Given the description of an element on the screen output the (x, y) to click on. 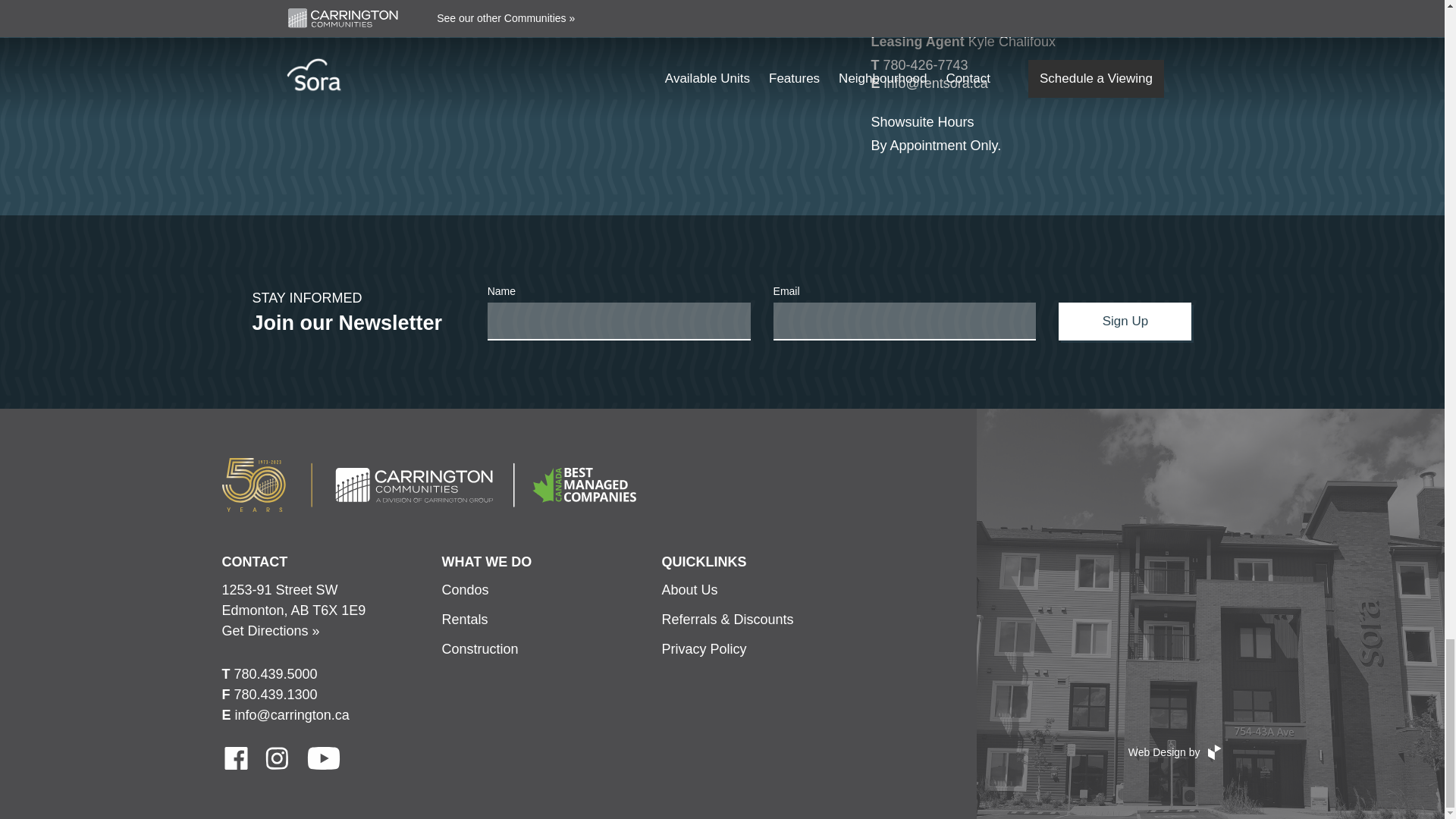
About Us (689, 589)
instagram (277, 757)
Sign Up (1124, 321)
Condos (464, 589)
Privacy Policy (703, 648)
CONTACT (253, 561)
780.439.5000 (275, 673)
Sign Up (1124, 321)
Rentals (464, 619)
Facebook (234, 757)
Edmonton Web Design by Box Clever (1175, 752)
Contact Carrington Communities (253, 561)
Construction (479, 648)
780-426-7743 (925, 64)
Rentals (464, 619)
